Given the description of an element on the screen output the (x, y) to click on. 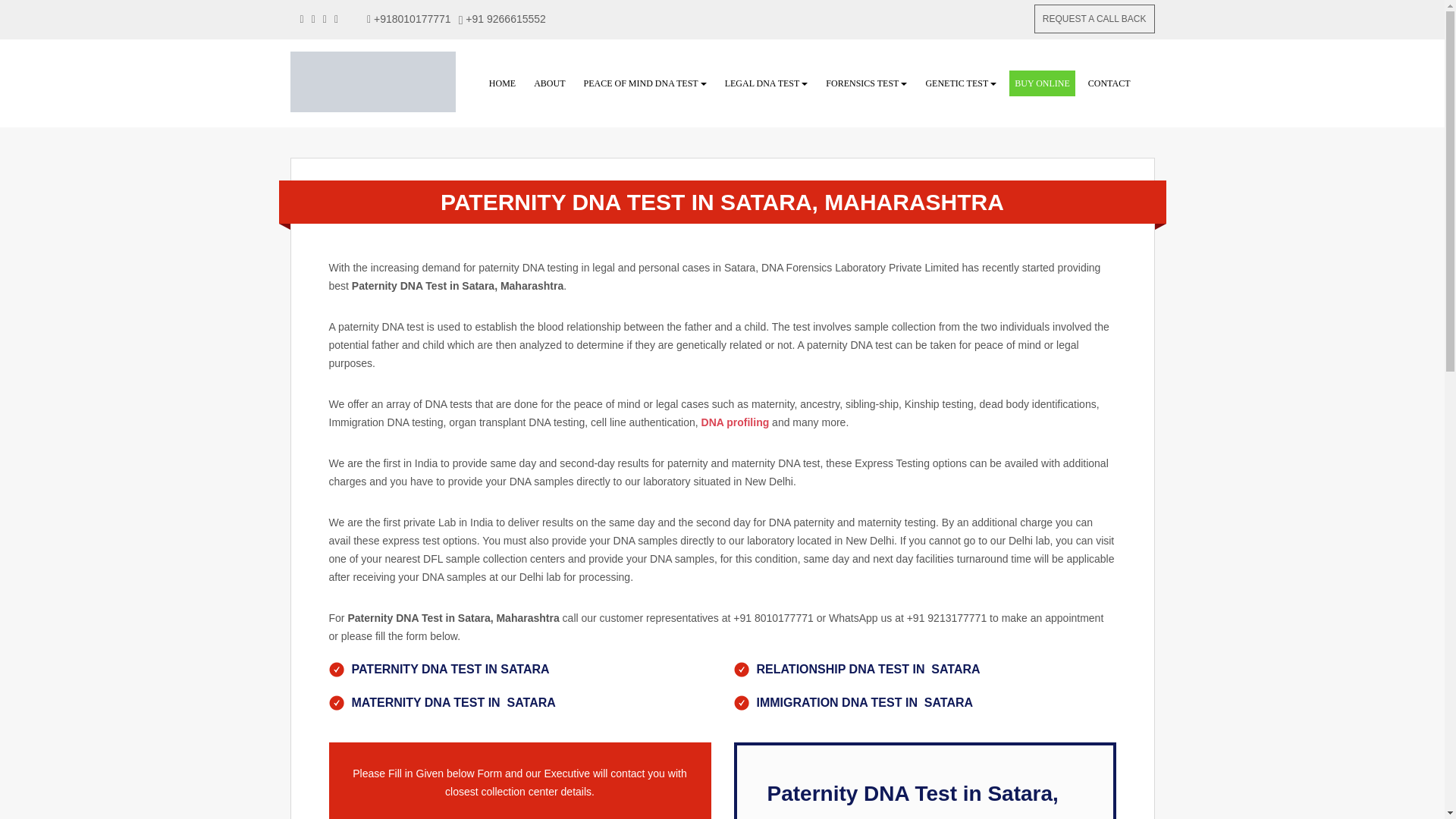
REQUEST A CALL BACK (1093, 18)
ABOUT (549, 83)
PEACE OF MIND DNA TEST (640, 83)
GENETIC TEST (956, 83)
LEGAL DNA TEST (762, 83)
DNA Forensics Lab (1093, 18)
FORENSICS TEST (861, 83)
HOME (502, 83)
